Given the description of an element on the screen output the (x, y) to click on. 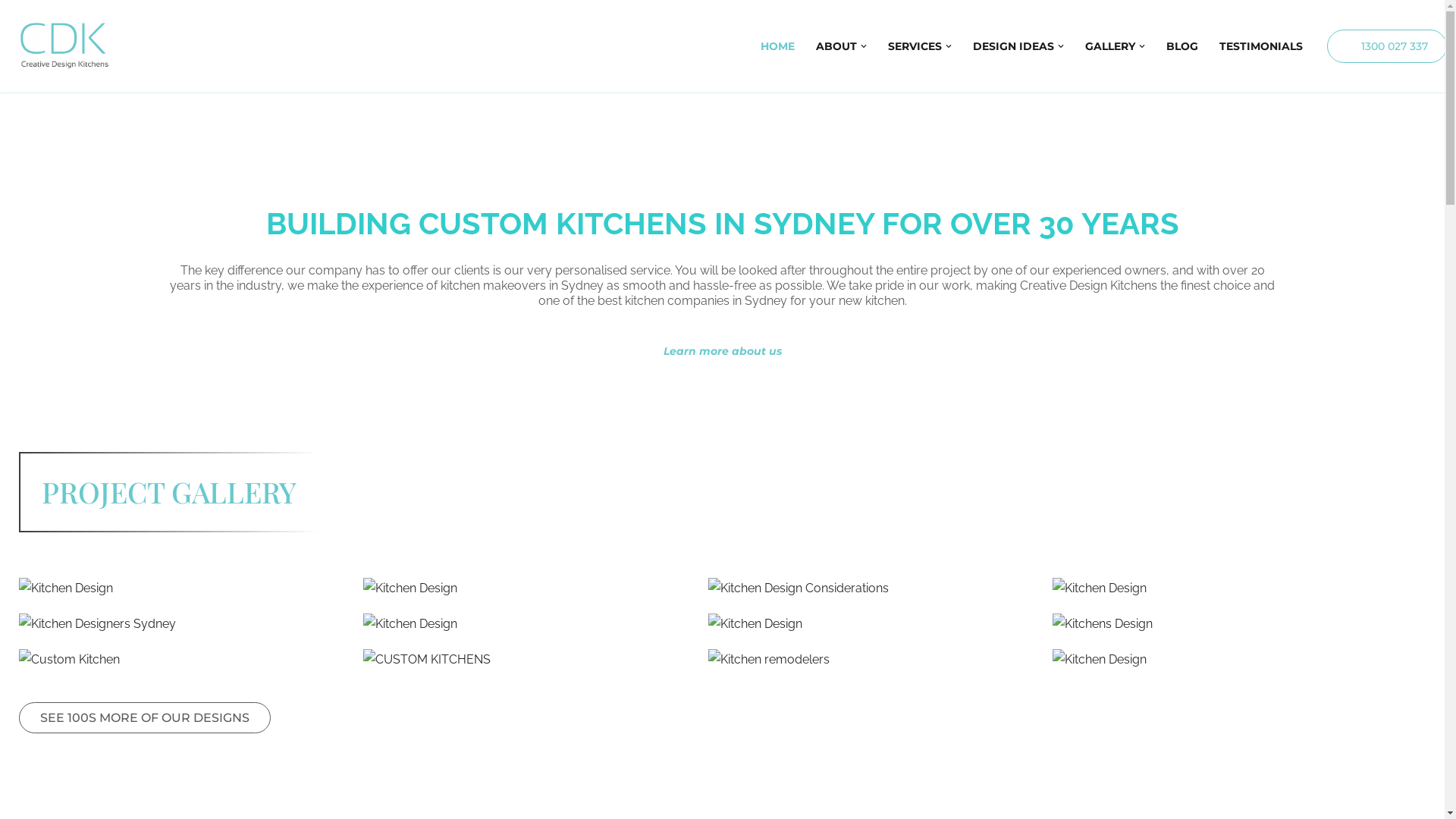
Skip to content Element type: text (11, 31)
HOME Element type: text (777, 46)
SERVICES Element type: text (914, 46)
ABOUT Element type: text (835, 46)
Creative Design Kitchens Element type: hover (63, 45)
Learn more about us Element type: text (721, 350)
1300 027 337 Element type: text (1386, 45)
GALLERY Element type: text (1110, 46)
TESTIMONIALS Element type: text (1260, 46)
BLOG Element type: text (1182, 46)
SEE 100S MORE OF OUR DESIGNS Element type: text (144, 717)
DESIGN IDEAS Element type: text (1013, 46)
